Given the description of an element on the screen output the (x, y) to click on. 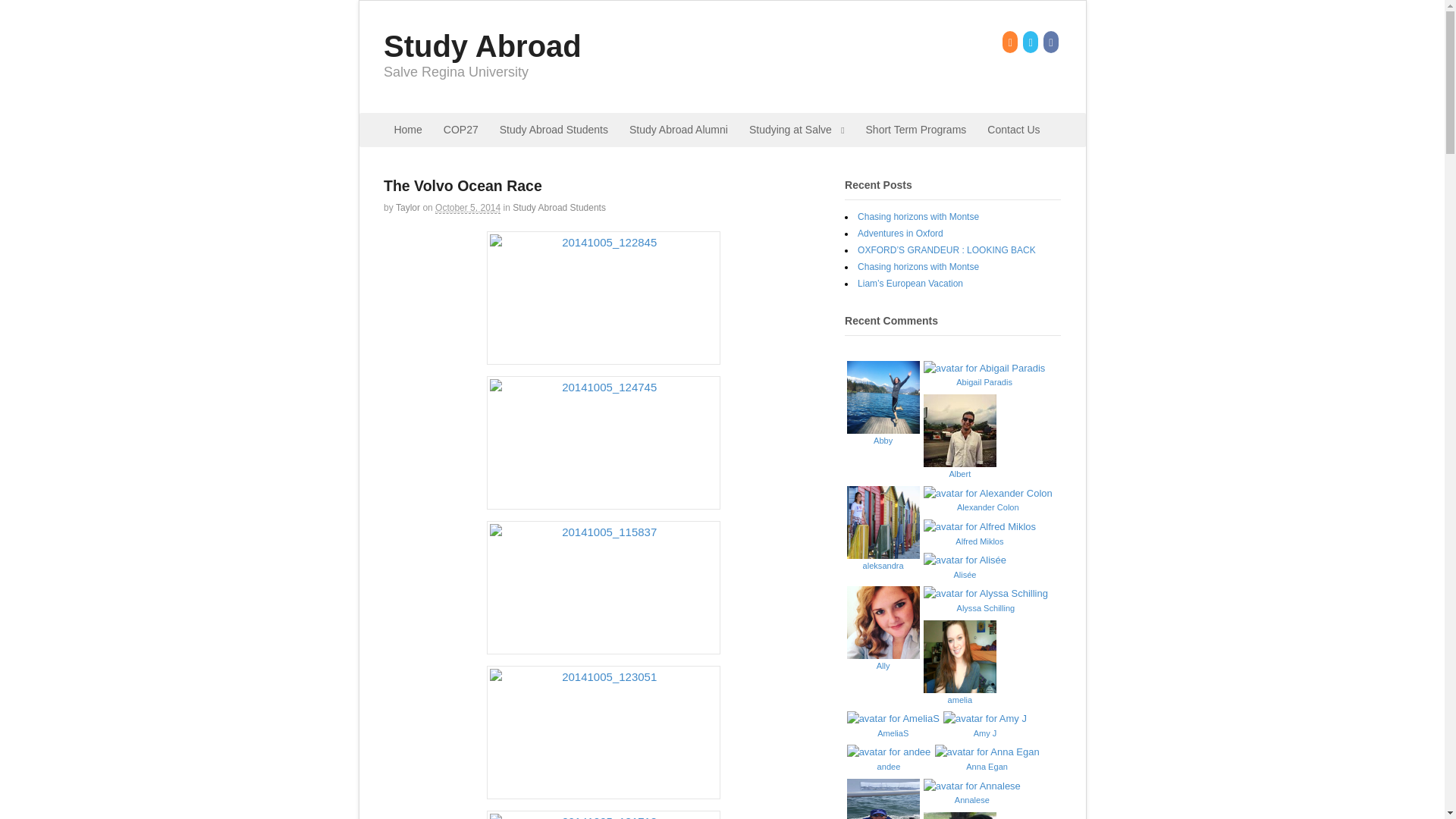
Studying at Salve (797, 130)
Home (407, 130)
Study Abroad Students (558, 207)
Contact Us (1012, 130)
View all items in Study Abroad Students (558, 207)
Abby (883, 433)
Study Abroad (482, 46)
Chasing horizons with Montse (917, 216)
RSS (1011, 42)
Abby (883, 433)
Taylor (408, 207)
Posts by Taylor (408, 207)
COP27 (460, 130)
Albert (959, 468)
Short Term Programs (916, 130)
